Given the description of an element on the screen output the (x, y) to click on. 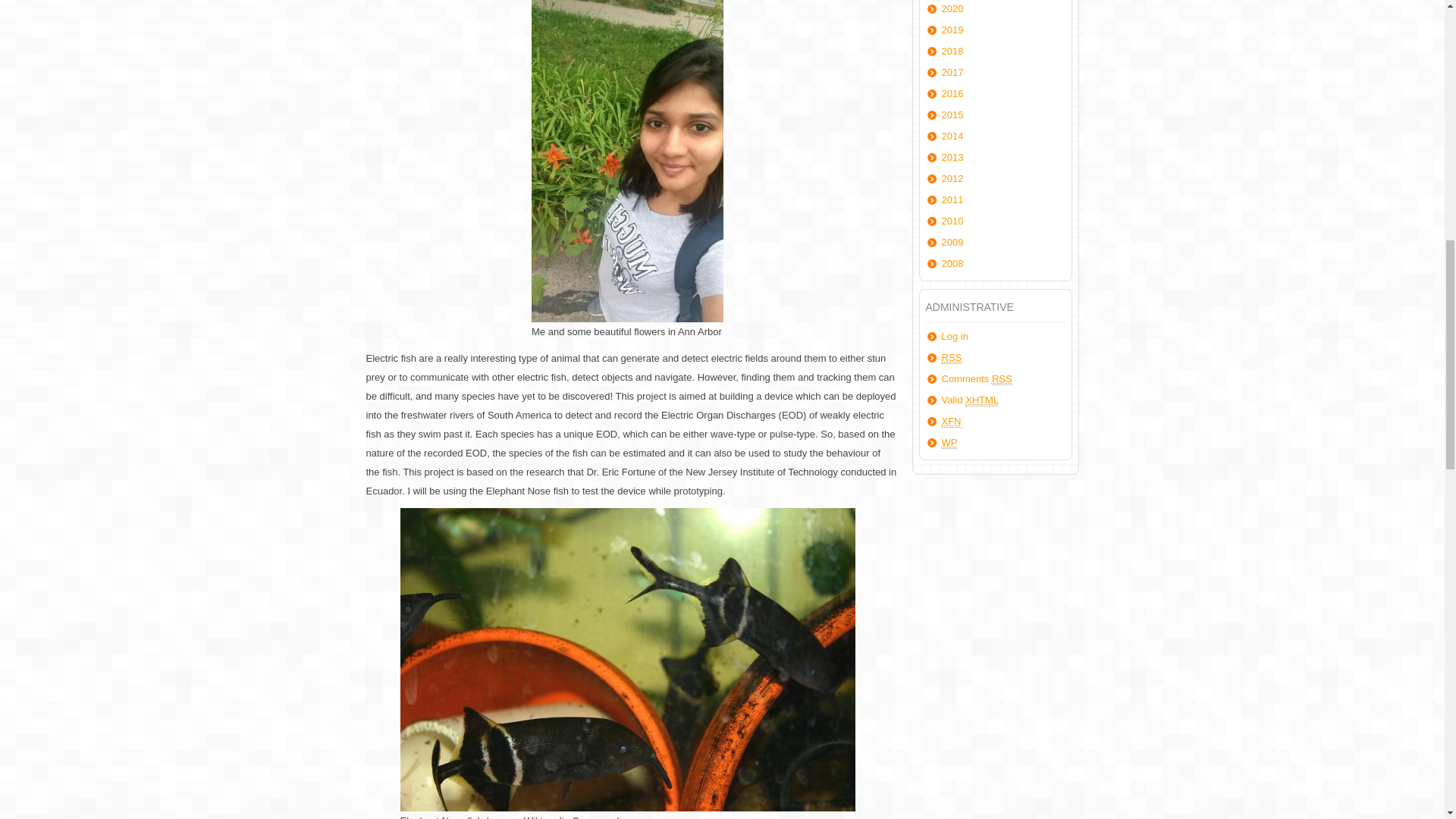
WordPress (950, 442)
XHTML Friends Network (951, 421)
The latest comments to all posts in RSS (976, 378)
Syndicate this site using RSS (952, 357)
Really Simple Syndication (1001, 378)
eXtensible HyperText Markup Language (981, 399)
